Given the description of an element on the screen output the (x, y) to click on. 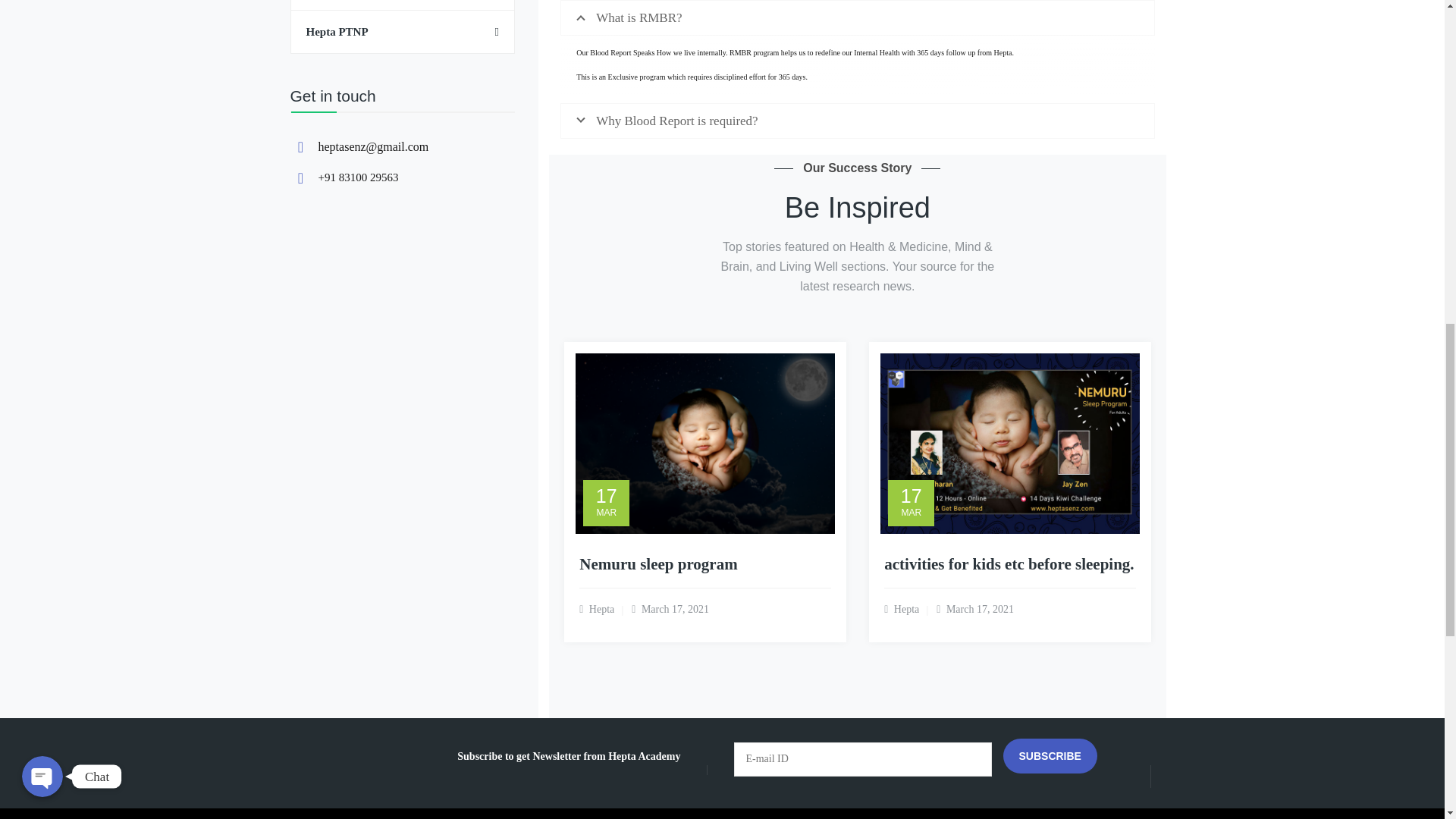
SUBSCRIBE (1049, 755)
